Given the description of an element on the screen output the (x, y) to click on. 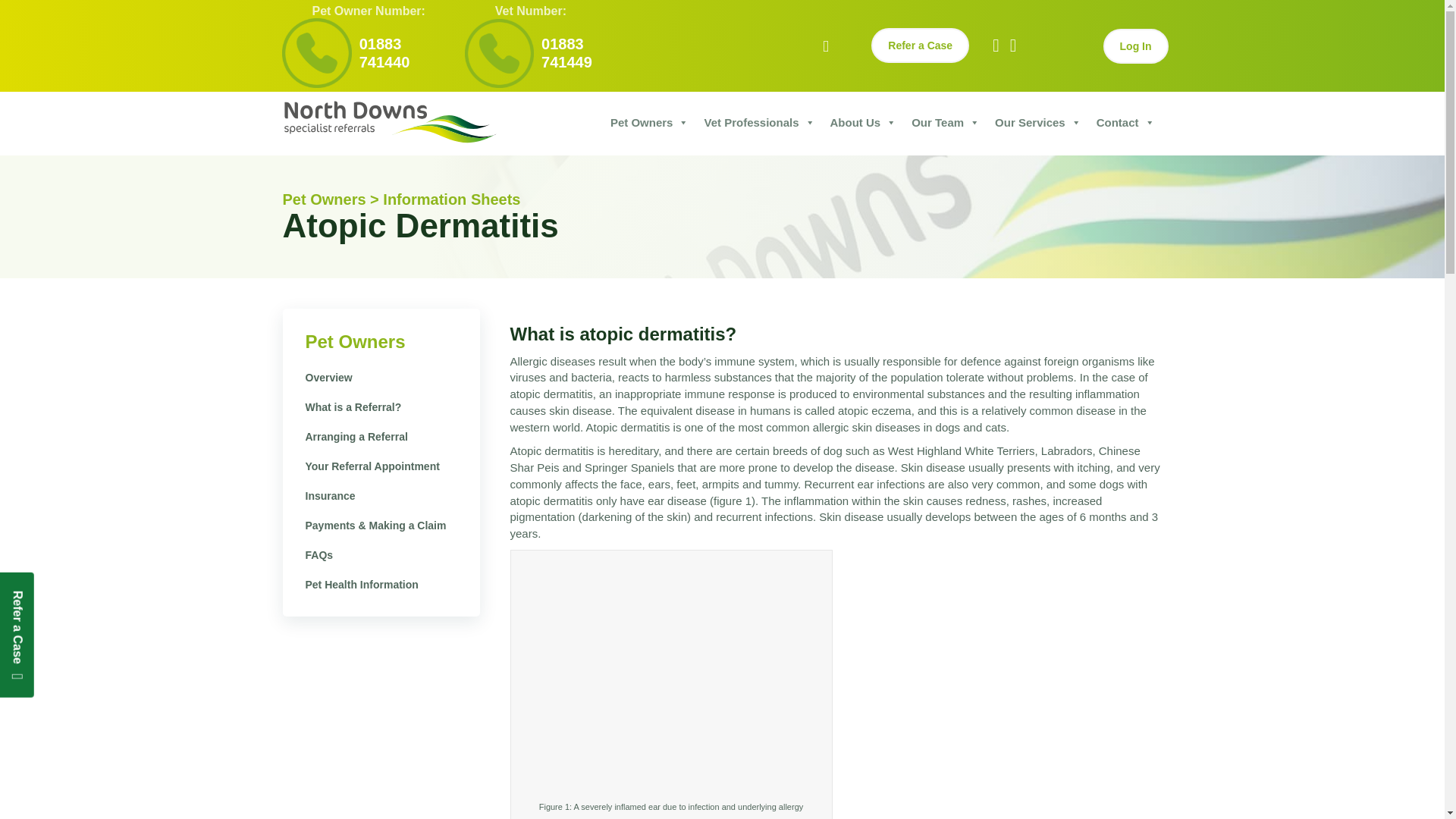
01883 741440 (384, 53)
Phone icon solid (499, 52)
About Us (863, 127)
Refer a Case (919, 45)
Our Team (945, 127)
ndsr-logo (389, 121)
Phone icon solid (317, 52)
Vet Professionals (758, 127)
Log In (1136, 45)
01883 741449 (566, 53)
Pet Owners (649, 127)
Pet Owners (354, 341)
